Given the description of an element on the screen output the (x, y) to click on. 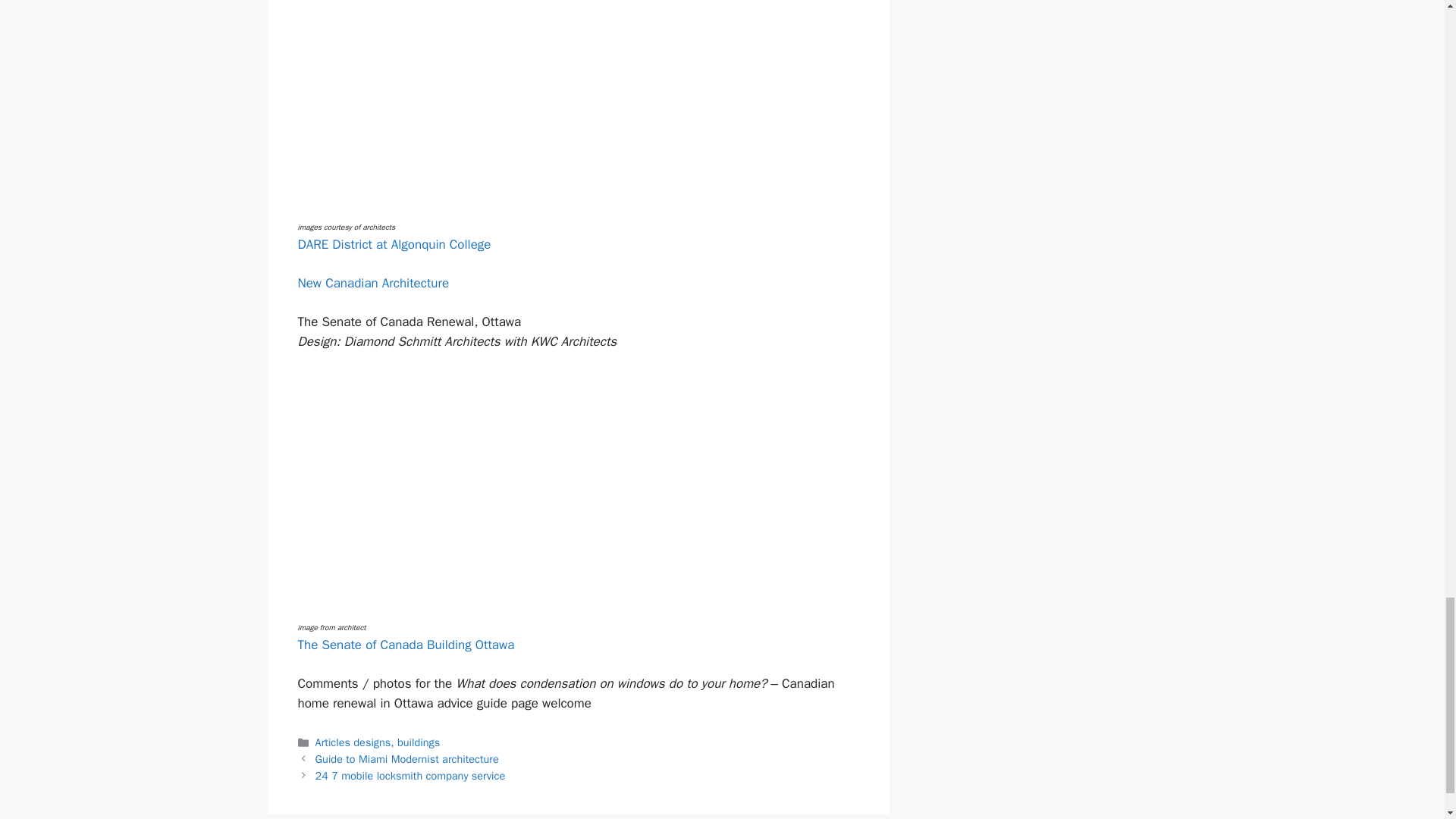
Articles designs, buildings (378, 742)
New Canadian Architecture (372, 283)
DARE District at Algonquin College (393, 244)
The Senate of Canada Building Ottawa (405, 644)
24 7 mobile locksmith company service (410, 775)
Guide to Miami Modernist architecture (407, 758)
